Given the description of an element on the screen output the (x, y) to click on. 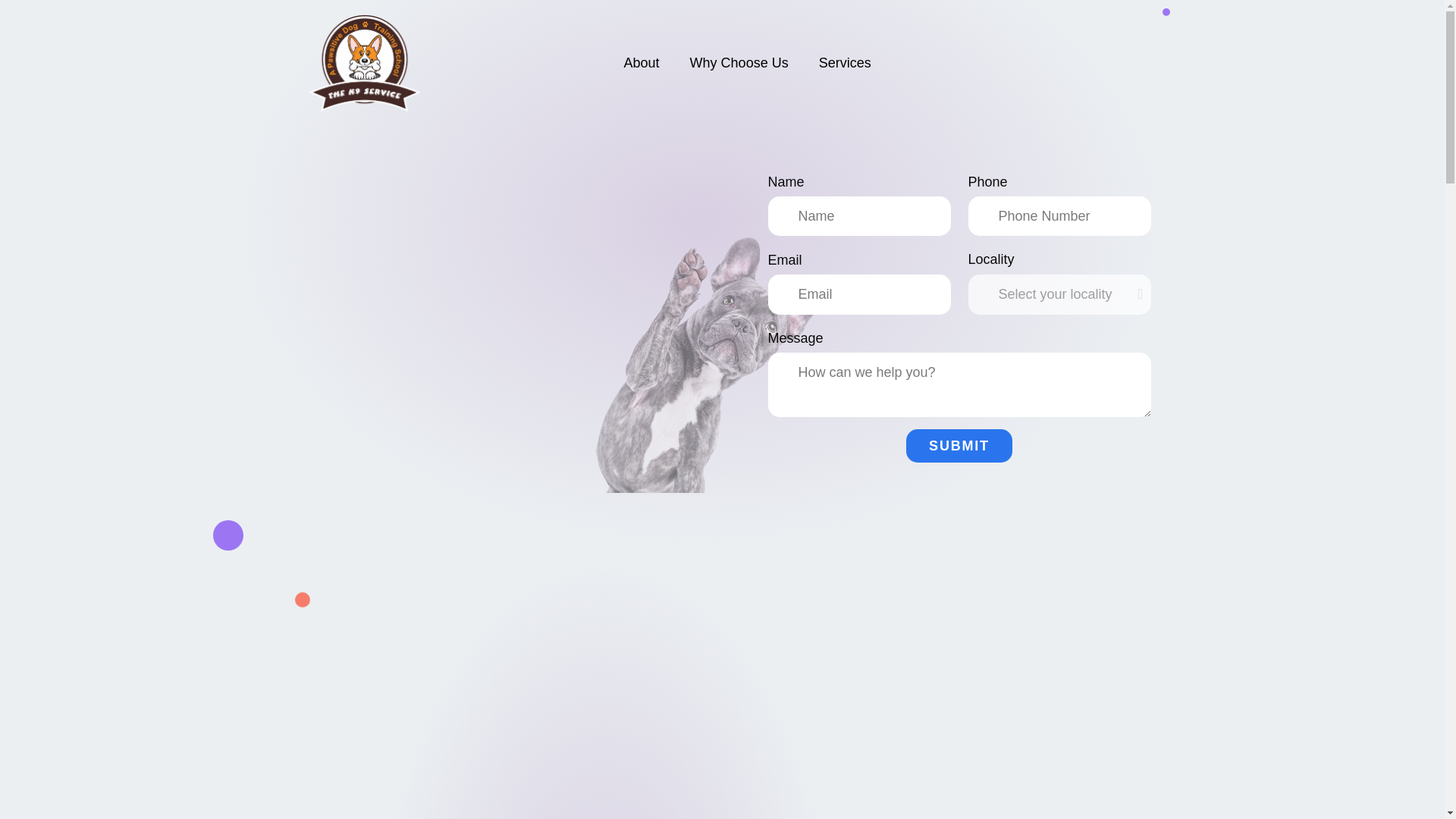
Why Choose Us (739, 62)
Services (844, 62)
SUBMIT (958, 445)
About (641, 62)
